Given the description of an element on the screen output the (x, y) to click on. 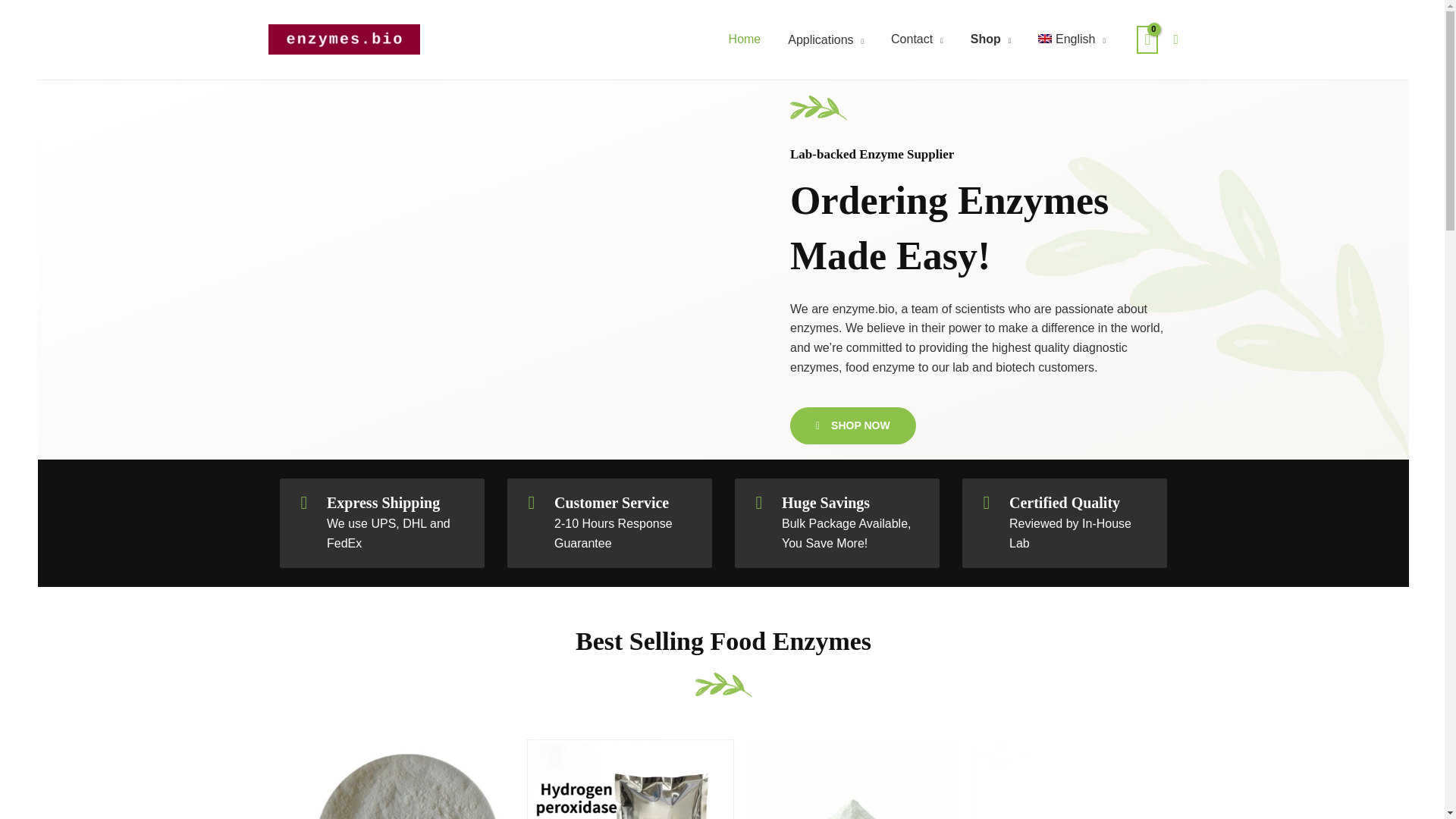
Applications (827, 39)
Shop (992, 39)
Contact (918, 39)
Home (746, 39)
English (1073, 39)
